Given the description of an element on the screen output the (x, y) to click on. 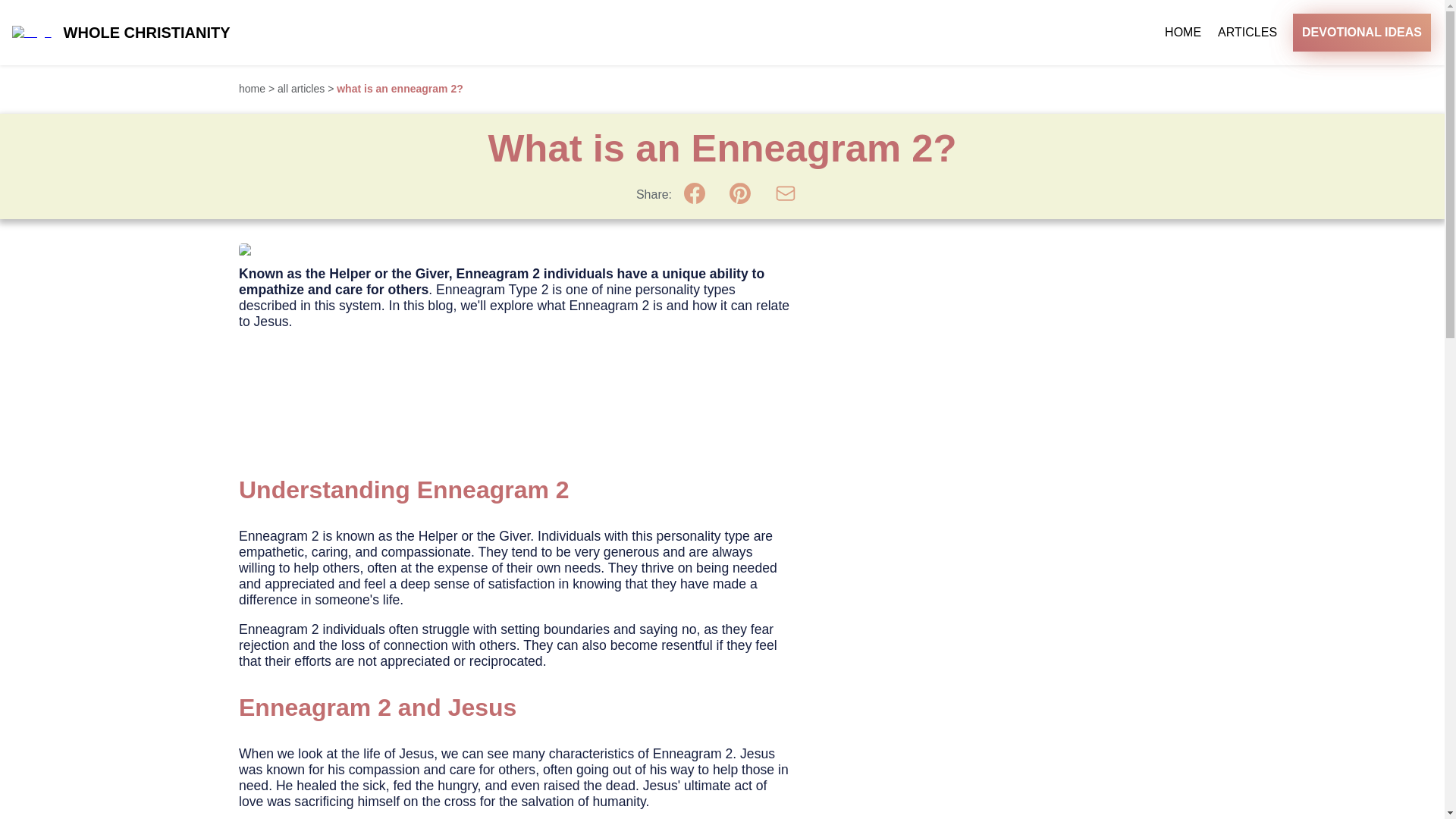
all articles (299, 88)
WHOLE CHRISTIANITY (147, 32)
home (251, 88)
HOME (1182, 32)
ARTICLES (1247, 32)
DEVOTIONAL IDEAS (1361, 32)
Pinterest (740, 192)
Facebook (694, 192)
